Given the description of an element on the screen output the (x, y) to click on. 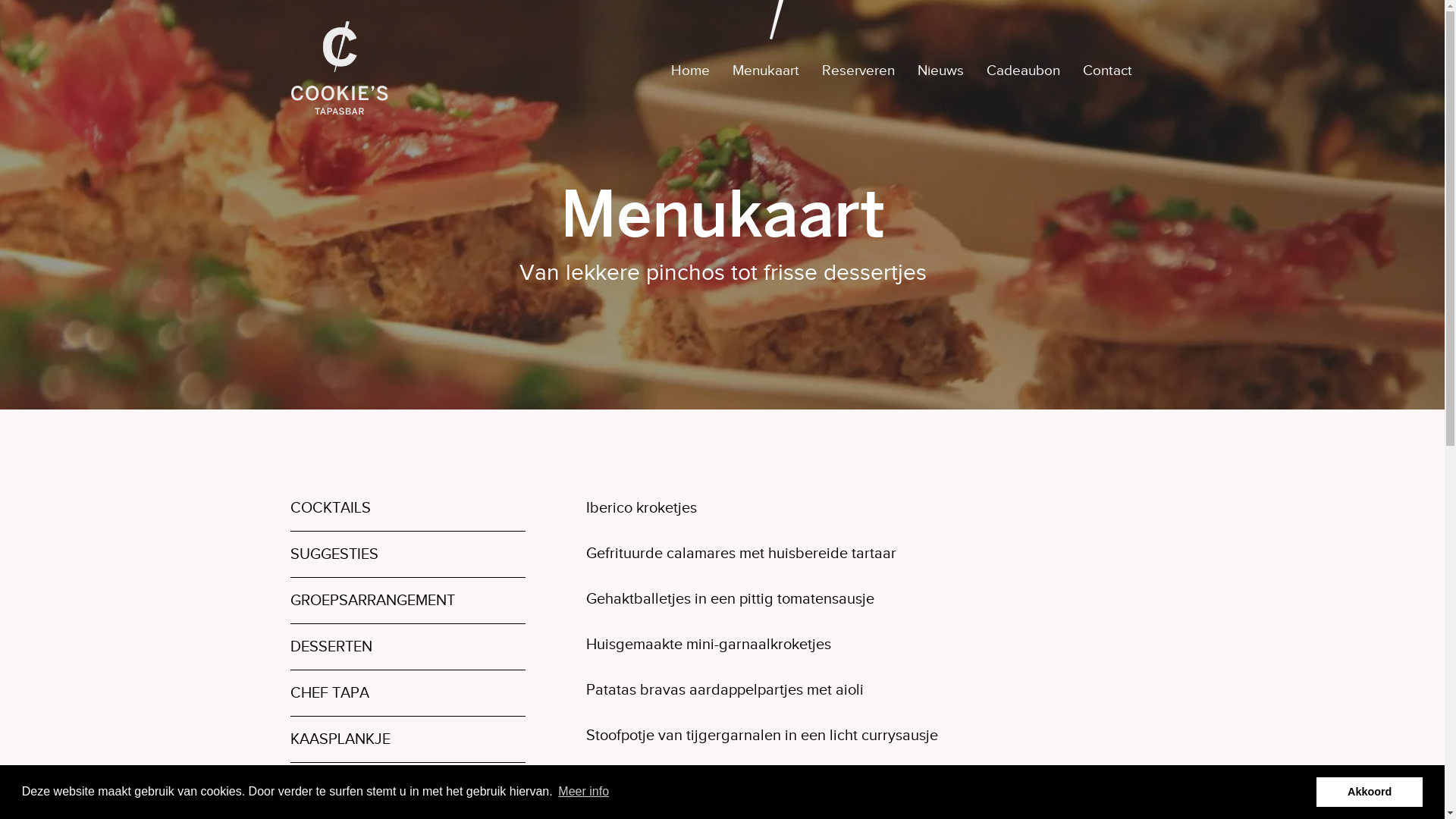
COCKTAILS Element type: text (406, 507)
Meer info Element type: text (583, 791)
KAASPLANKJE Element type: text (406, 739)
Nieuws Element type: text (940, 69)
DESSERTEN Element type: text (406, 646)
CHEF TAPA Element type: text (406, 692)
Home Element type: text (689, 69)
Contact Element type: text (1107, 69)
SUGGESTIES Element type: text (406, 554)
GROEPSARRANGEMENT Element type: text (406, 600)
Cadeaubon Element type: text (1022, 69)
Reserveren Element type: text (858, 69)
Menukaart Element type: text (765, 69)
Akkoord Element type: text (1369, 791)
ONZE HAMMEN Element type: text (406, 785)
